Given the description of an element on the screen output the (x, y) to click on. 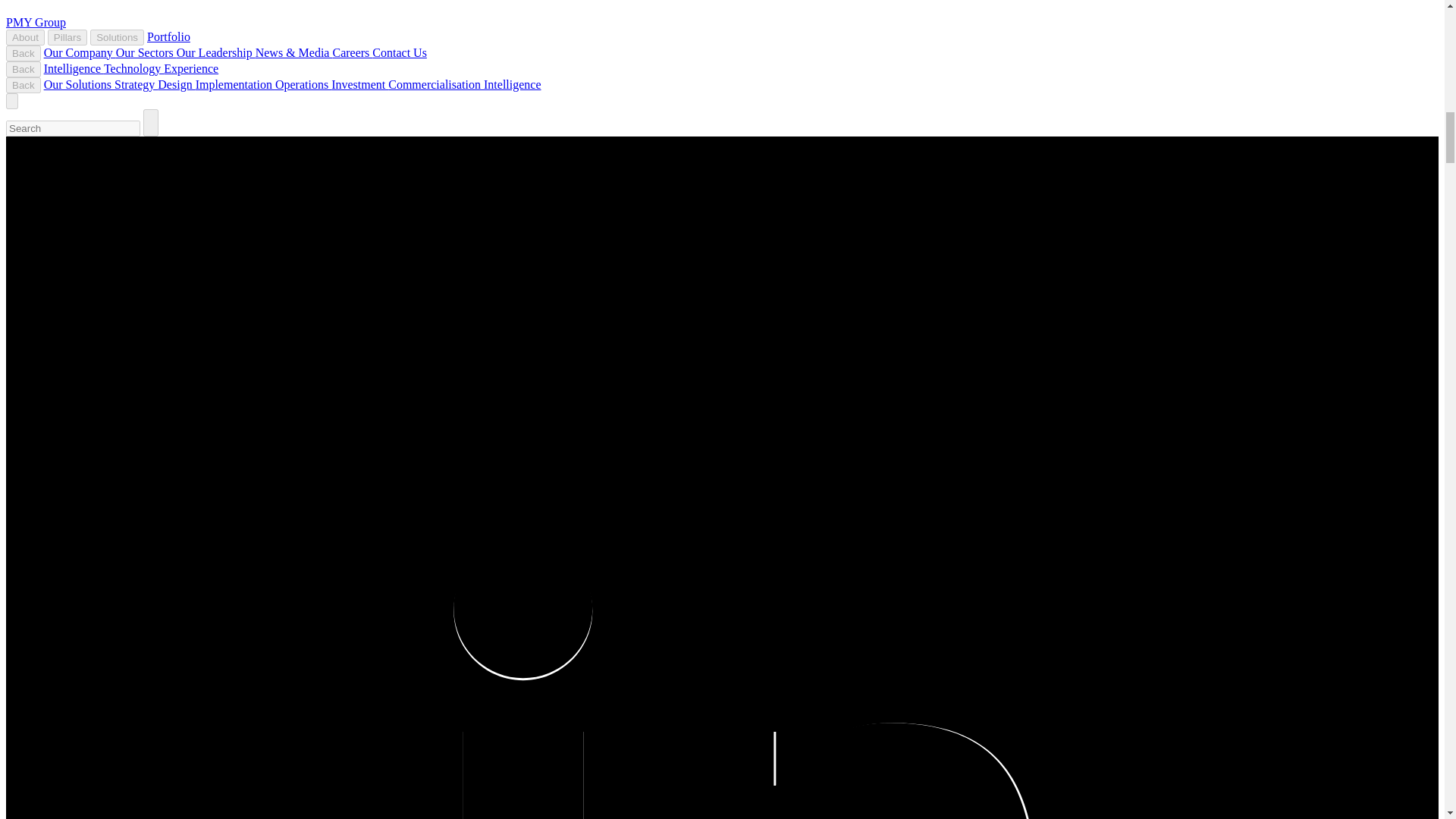
Design (176, 83)
Implementation (235, 83)
Our Sectors (146, 51)
Experience (190, 68)
About (25, 37)
Our Solutions (79, 83)
Back (22, 68)
Contact Us (399, 51)
PMY Group (35, 21)
Back (22, 84)
Technology (133, 68)
Intelligence (512, 83)
Careers (351, 51)
Back (22, 53)
Pillars (67, 37)
